Given the description of an element on the screen output the (x, y) to click on. 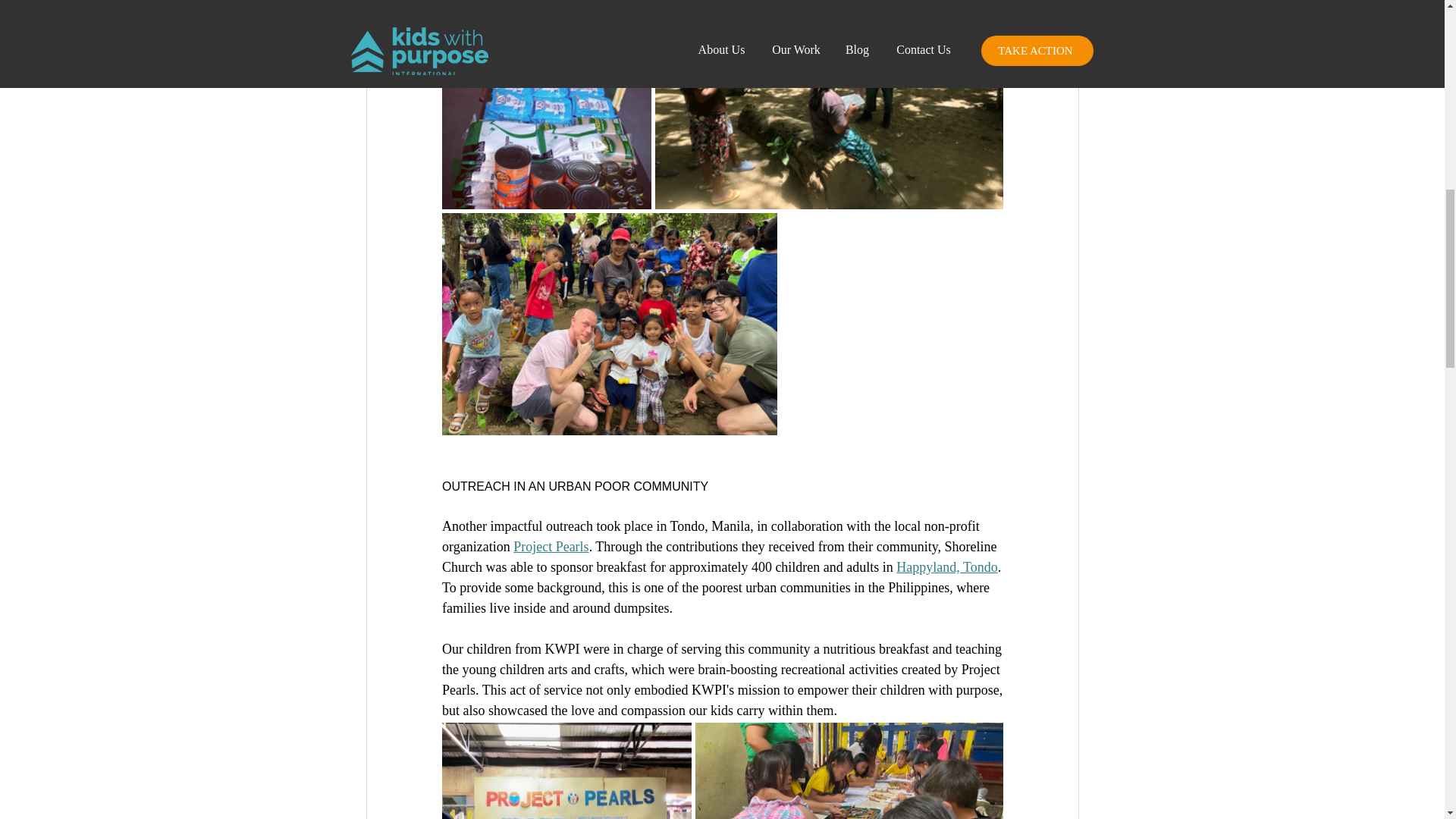
Happyland, Tondo (946, 566)
Project Pearls (550, 546)
